Given the description of an element on the screen output the (x, y) to click on. 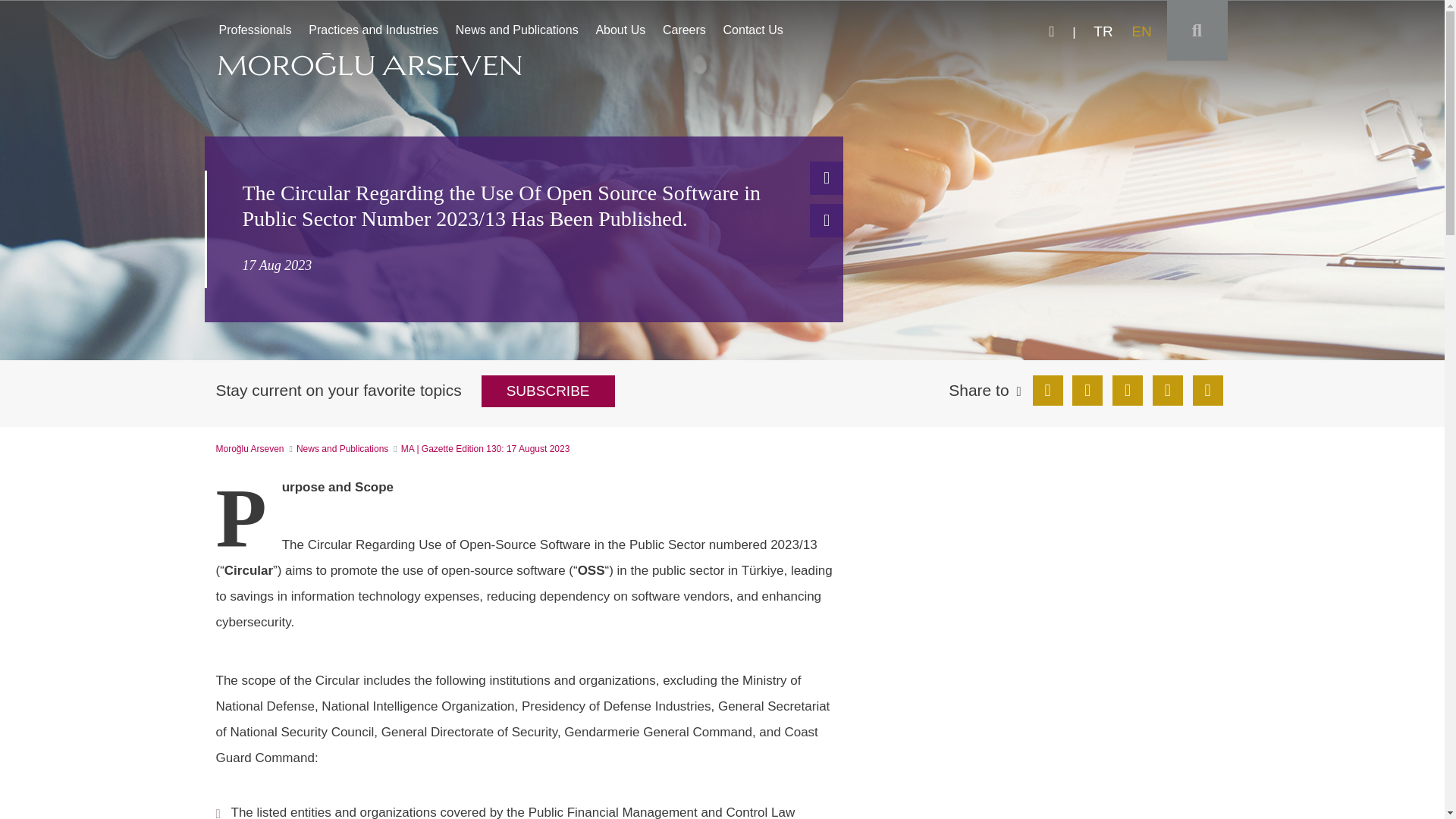
Print PDF (826, 177)
twitter (1145, 31)
Add to Portfolio (1086, 390)
Contact Us (826, 219)
Professionals (753, 30)
Portfolio (254, 30)
facebook (1052, 31)
News and Publications (1127, 390)
SUBSCRIBE (342, 448)
Practices and Industries (547, 391)
Linkedin (373, 30)
Email (1102, 31)
TOGGLE SEARCH (1047, 390)
